Given the description of an element on the screen output the (x, y) to click on. 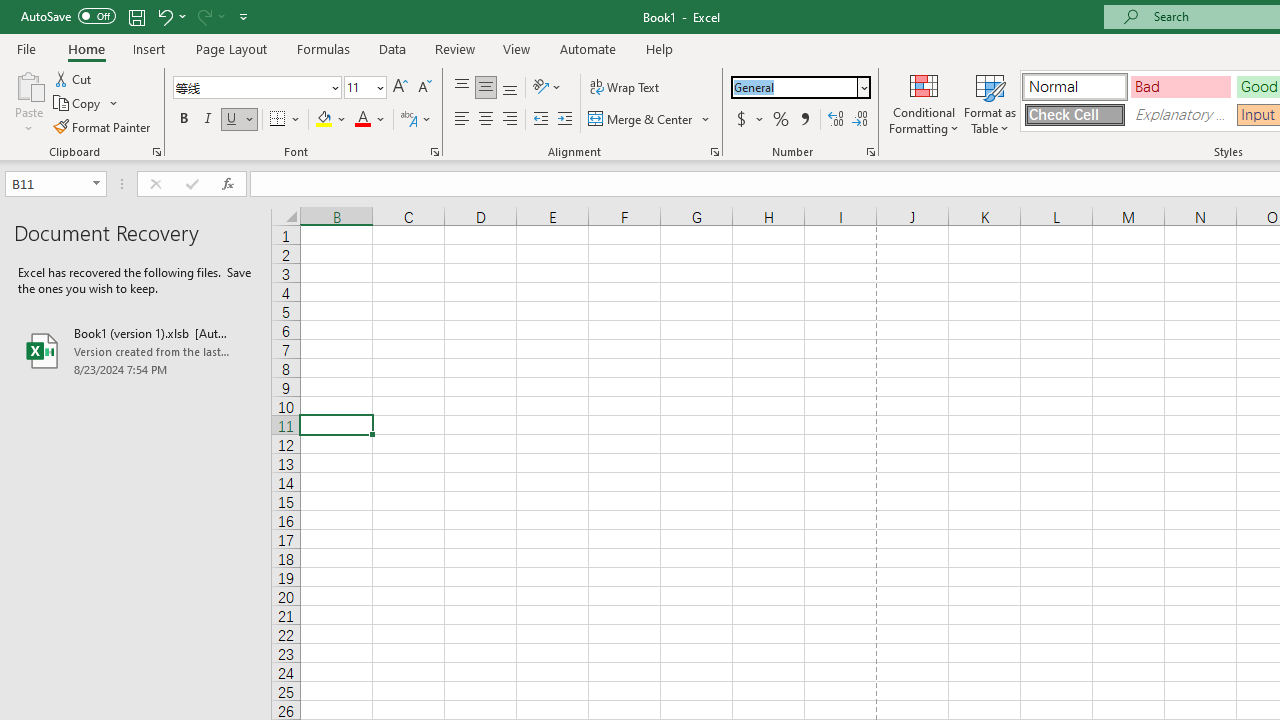
Show Phonetic Field (416, 119)
Office Clipboard... (156, 151)
Copy (85, 103)
Cut (73, 78)
Wrap Text (624, 87)
Underline (232, 119)
Font Color RGB(255, 0, 0) (362, 119)
Format as Table (990, 102)
Align Right (509, 119)
Fill Color RGB(255, 255, 0) (324, 119)
